Given the description of an element on the screen output the (x, y) to click on. 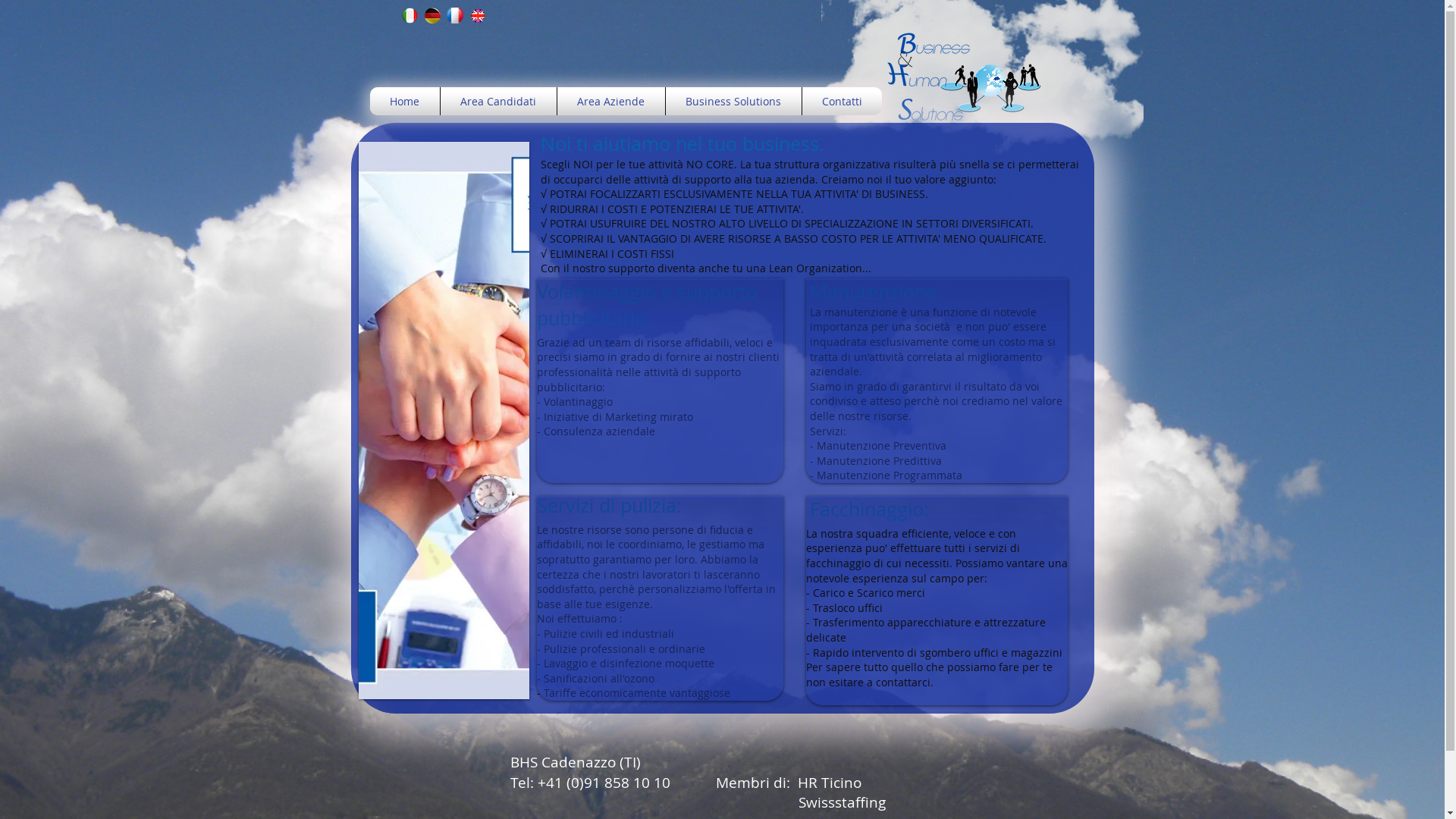
Contatti Element type: text (841, 101)
Area Candidati Element type: text (497, 101)
Business Solutions Element type: text (733, 101)
Area Aziende Element type: text (610, 101)
Home Element type: text (404, 101)
BHS, agenzia interinale Element type: hover (965, 71)
